Given the description of an element on the screen output the (x, y) to click on. 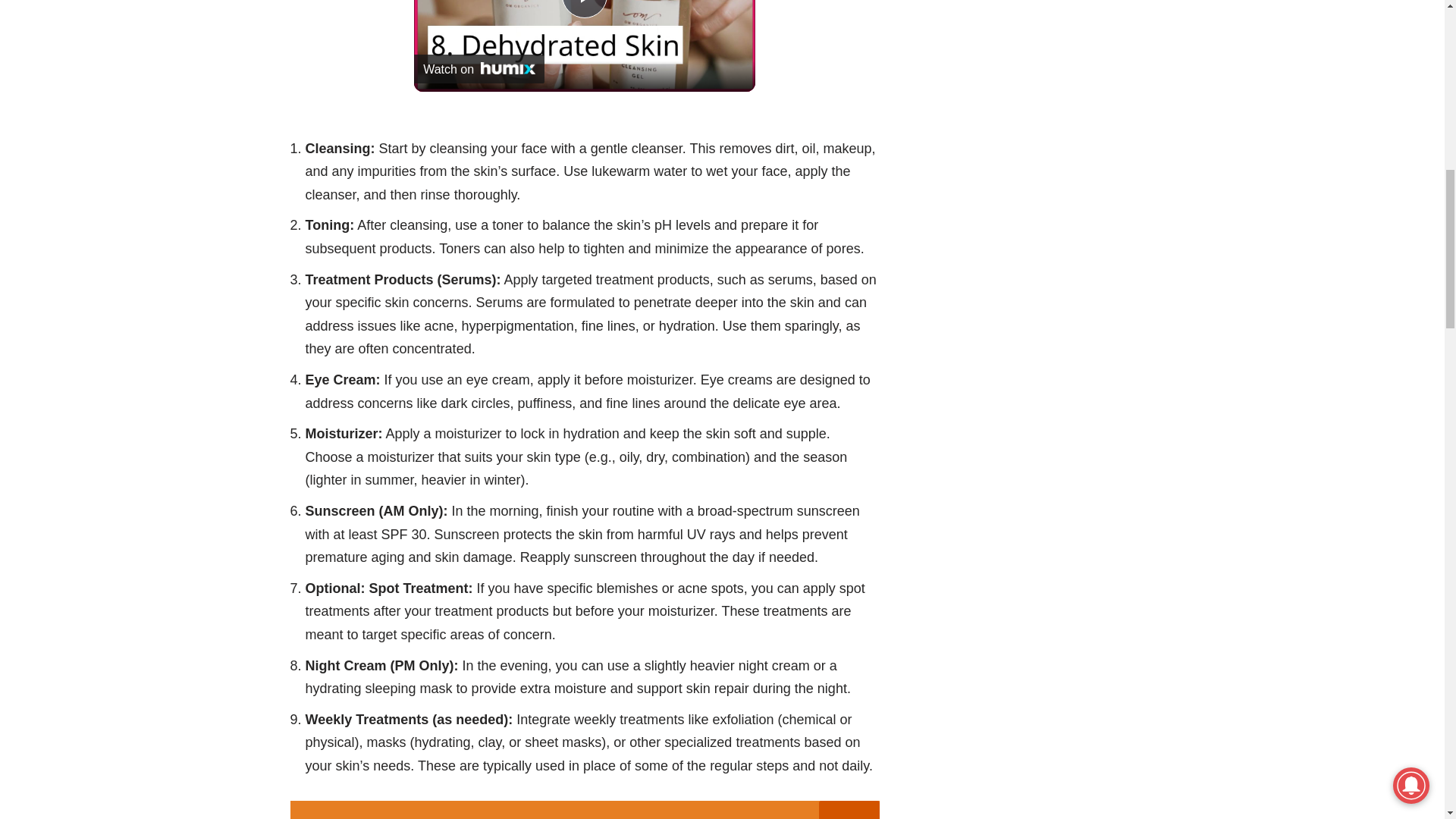
Play Video (584, 9)
